Given the description of an element on the screen output the (x, y) to click on. 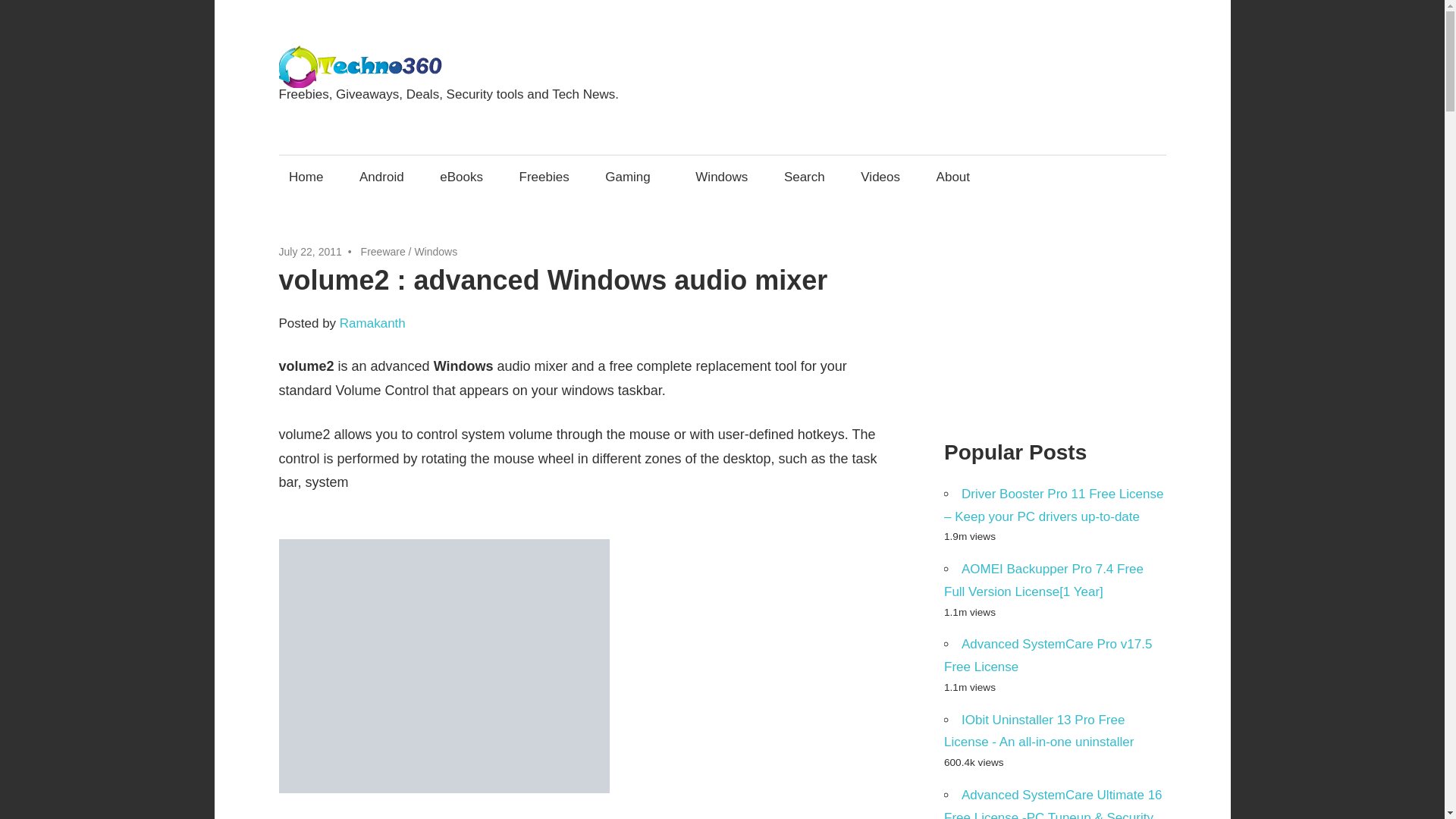
eBooks (461, 176)
Gaming (632, 176)
Home (306, 176)
Freeware (383, 251)
Volume2 (444, 665)
July 22, 2011 (310, 251)
7:21 am (310, 251)
Windows (721, 176)
Windows (435, 251)
View all posts by Ramakanth (372, 323)
